Given the description of an element on the screen output the (x, y) to click on. 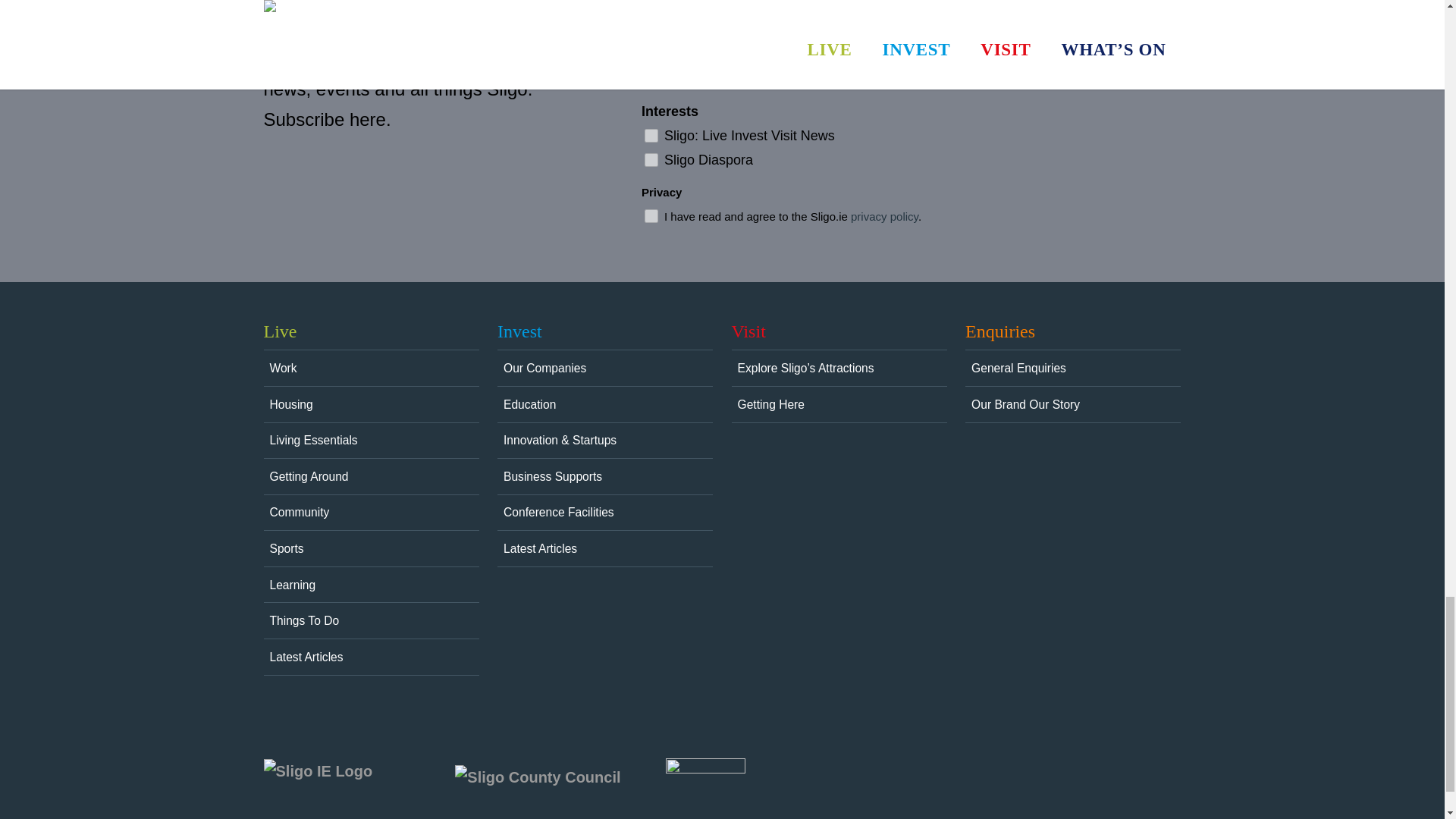
on (651, 160)
on (651, 135)
on (651, 215)
